Given the description of an element on the screen output the (x, y) to click on. 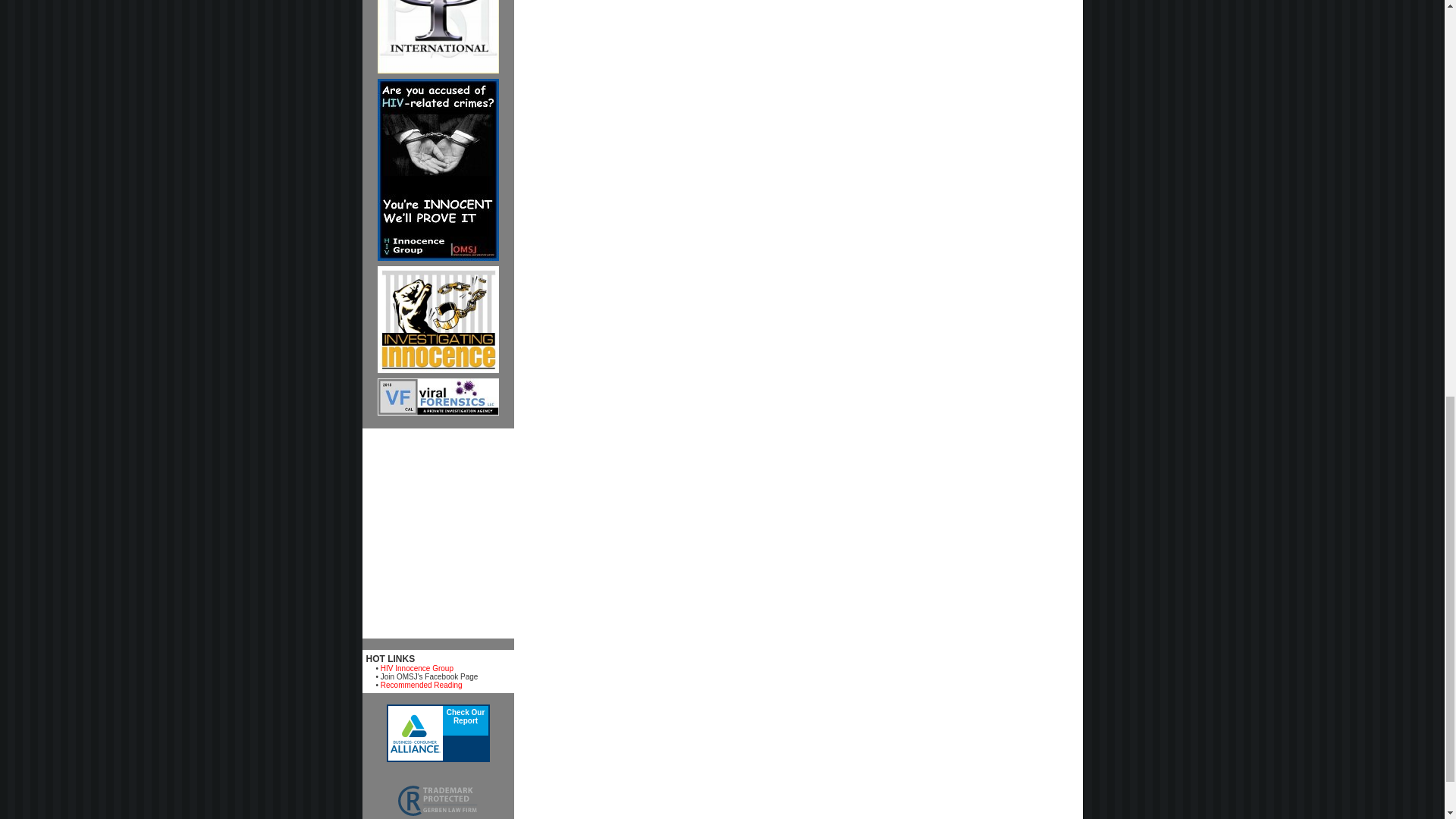
Recommended Reading (421, 684)
HIV Innocence Group (416, 668)
